Given the description of an element on the screen output the (x, y) to click on. 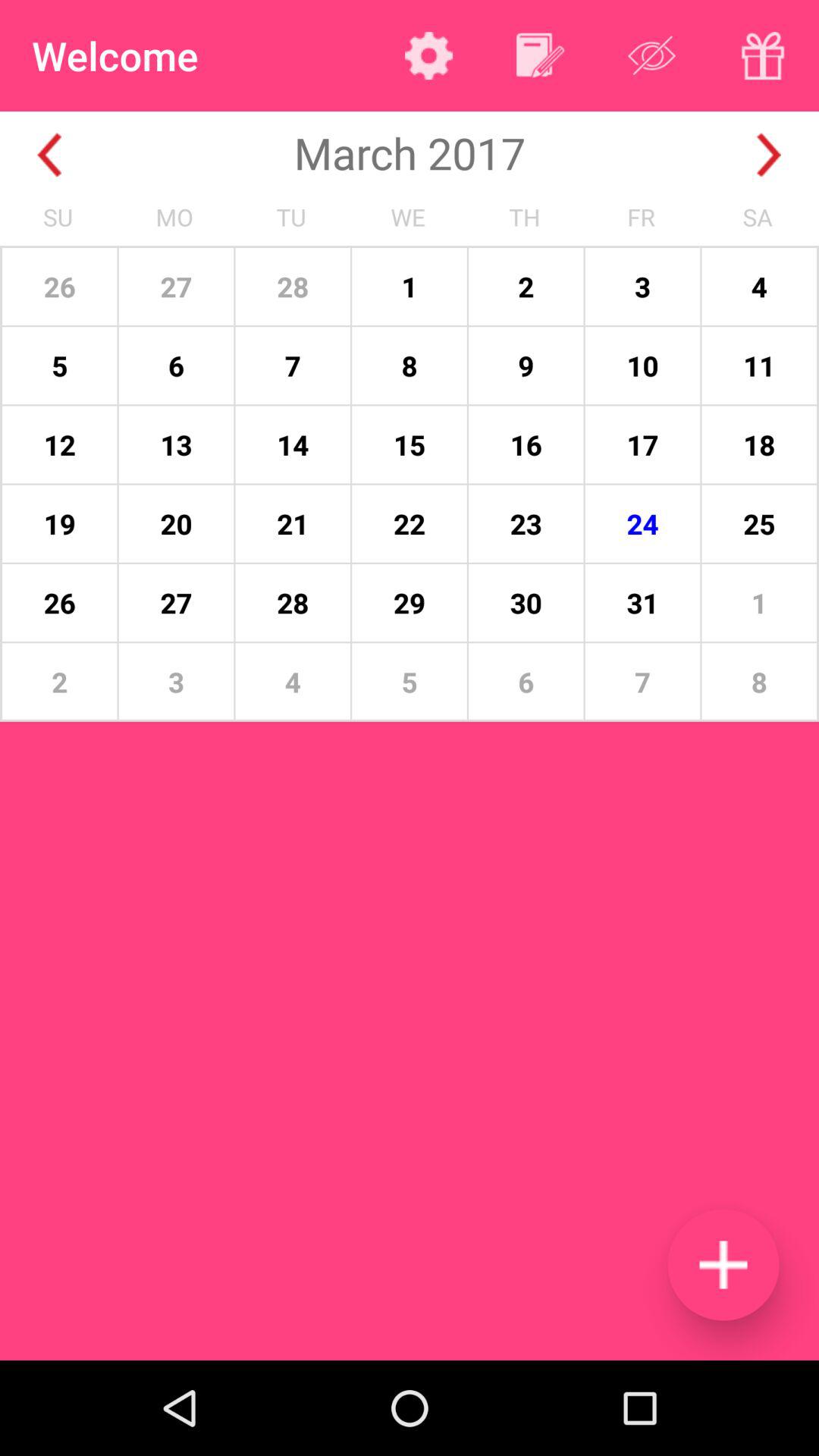
go to the previous month (49, 155)
